Given the description of an element on the screen output the (x, y) to click on. 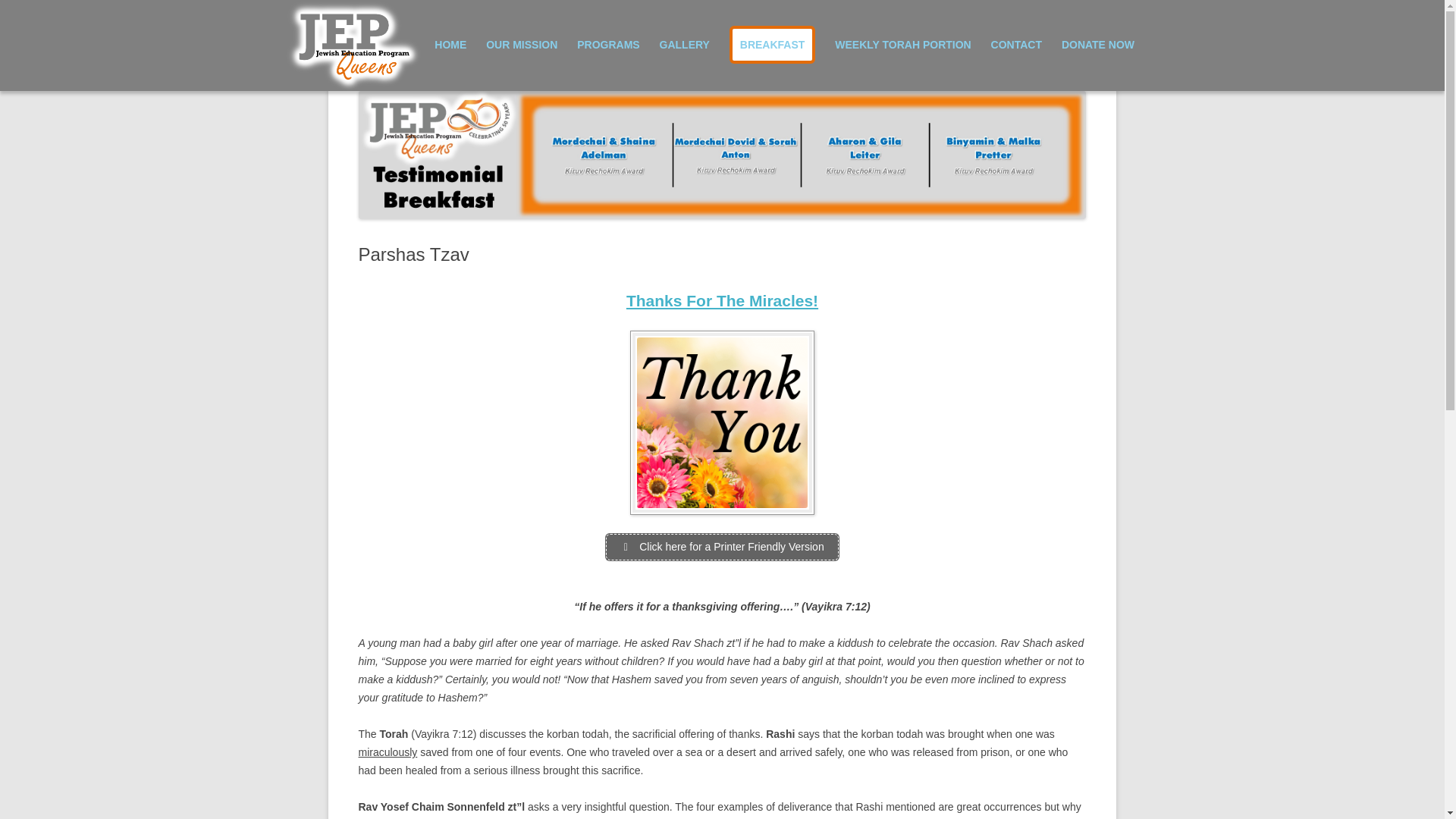
WEEKLY TORAH PORTION (902, 44)
ARCHIVES (910, 78)
CONTACT (1016, 44)
HOME (449, 44)
JEP Queens (414, 72)
PROGRAMS (607, 44)
Click here for a Printer Friendly Version (721, 547)
GALLERY (684, 44)
DONATE NOW (1097, 44)
WEDNESDAY CLASSES (734, 78)
JEP Queens (414, 72)
BREAKFAST (772, 44)
OUR MISSION (521, 44)
